Given the description of an element on the screen output the (x, y) to click on. 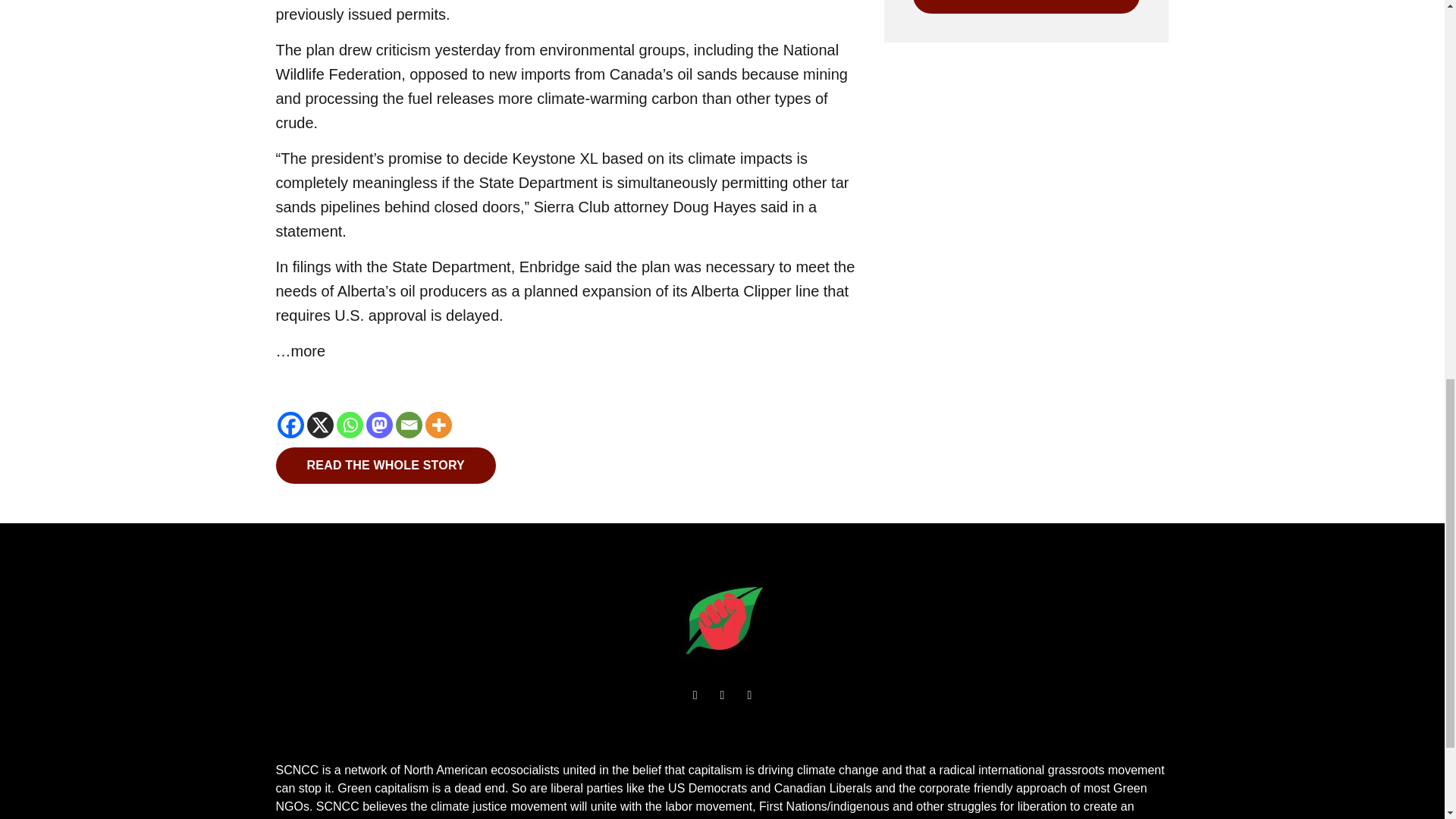
Email (409, 424)
Mastodon (378, 424)
Whatsapp (349, 424)
X (319, 424)
Facebook (291, 424)
More (438, 424)
